Given the description of an element on the screen output the (x, y) to click on. 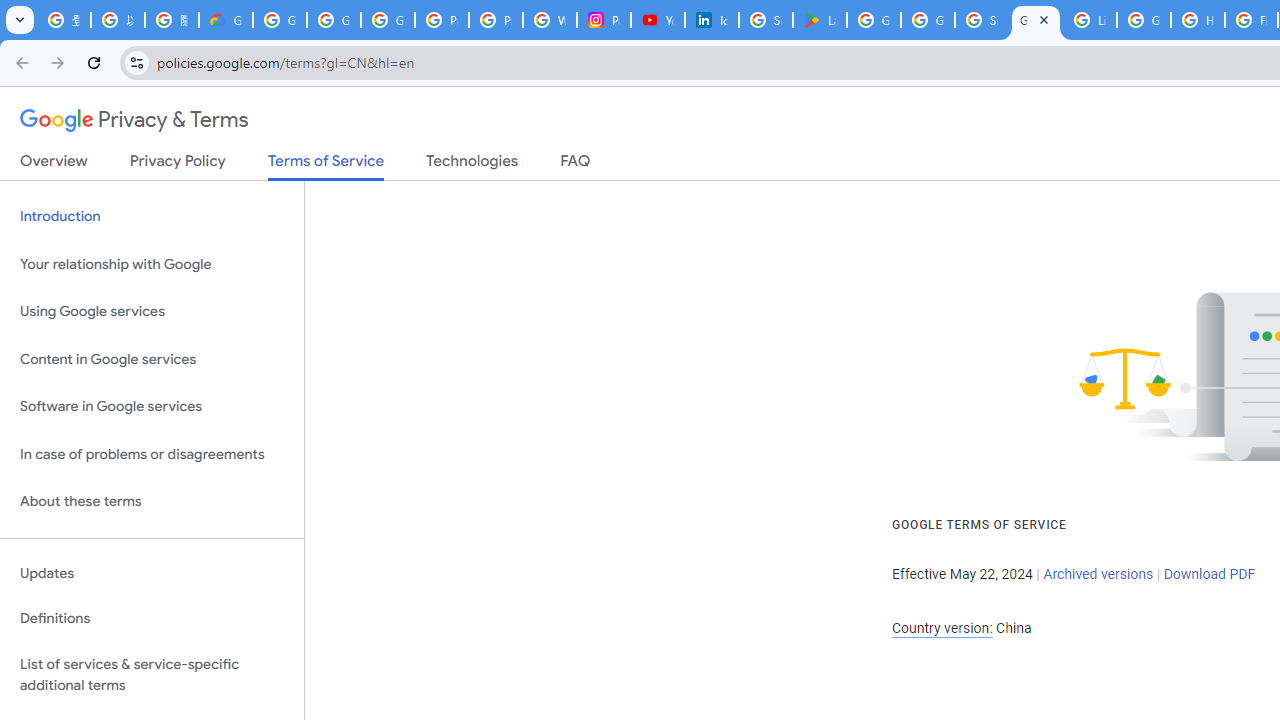
How do I create a new Google Account? - Google Account Help (1197, 20)
Your relationship with Google (152, 263)
About these terms (152, 502)
Using Google services (152, 312)
Last Shelter: Survival - Apps on Google Play (819, 20)
Sign in - Google Accounts (981, 20)
